Given the description of an element on the screen output the (x, y) to click on. 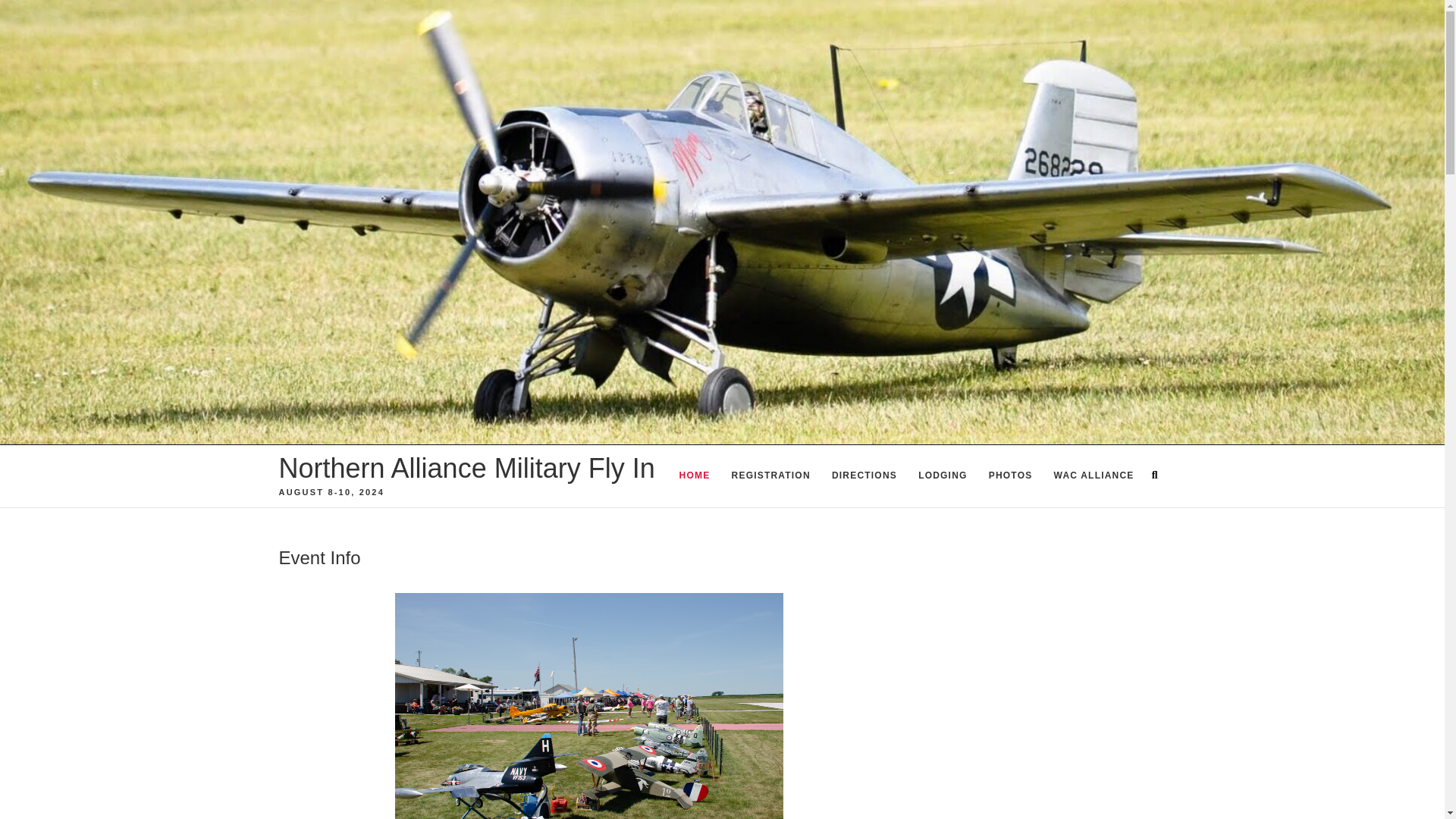
Northern Alliance Military Fly In (467, 468)
DIRECTIONS (863, 475)
REGISTRATION (770, 475)
WAC ALLIANCE (1093, 475)
Northern Alliance Military Fly In (467, 468)
LODGING (941, 475)
PHOTOS (1010, 475)
